Given the description of an element on the screen output the (x, y) to click on. 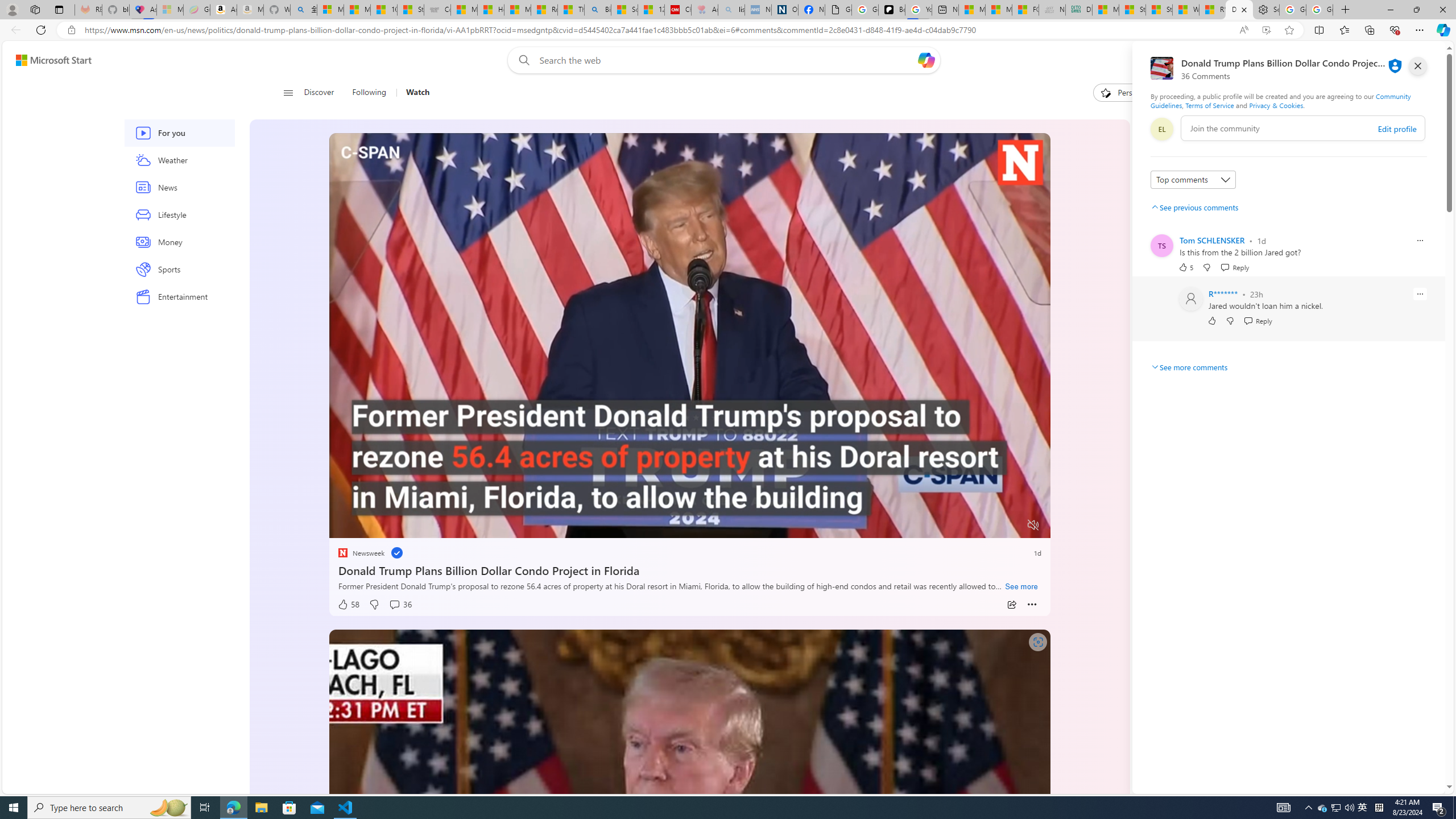
Sort comments by (1193, 179)
Enhance video (1266, 29)
Fullscreen (1011, 525)
Class: at-item inline-watch (1031, 604)
